Given the description of an element on the screen output the (x, y) to click on. 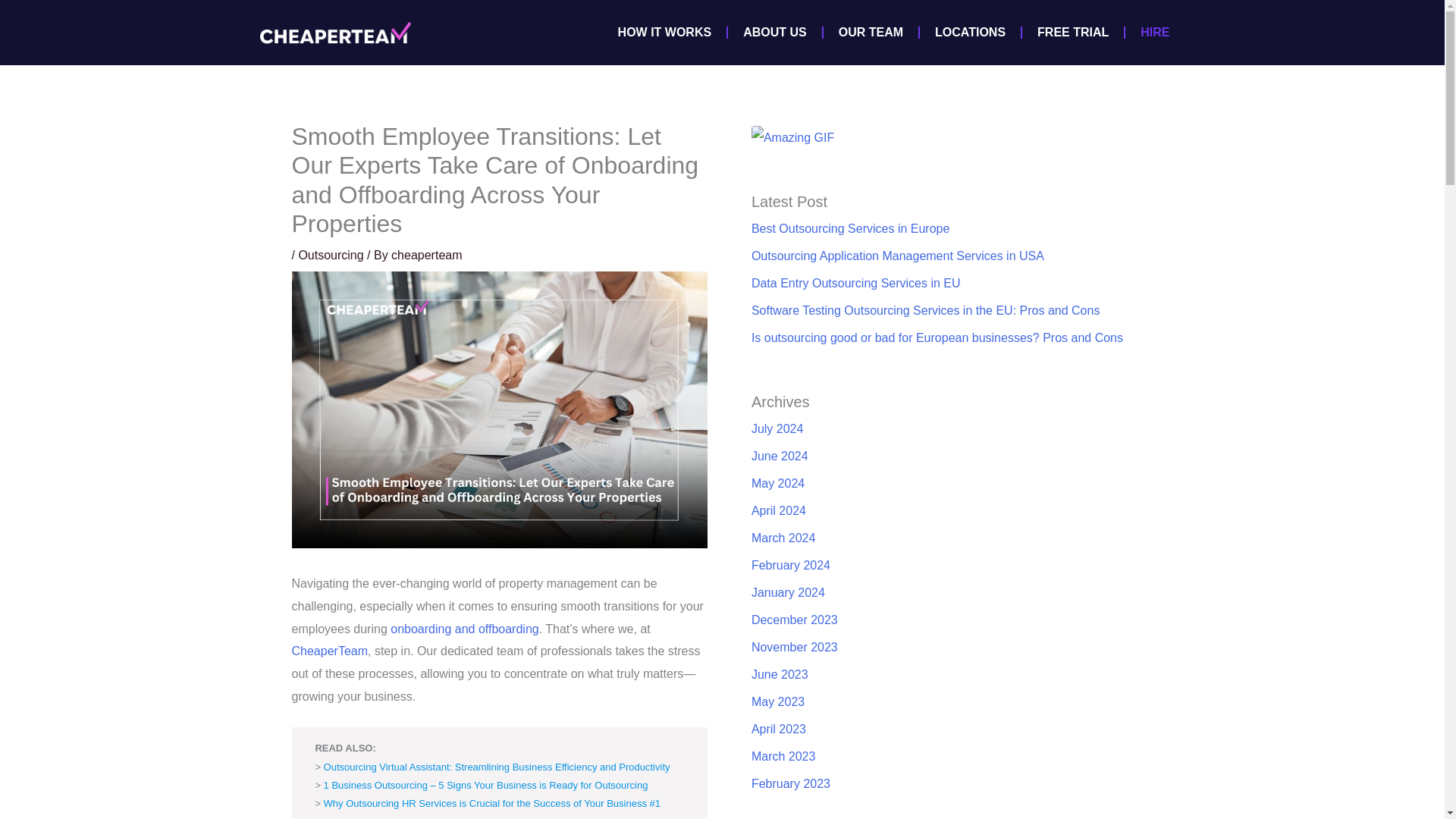
HIRE (1155, 32)
CheaperTeam (329, 650)
OUR TEAM (871, 32)
FREE TRIAL (1073, 32)
View all posts by cheaperteam (426, 254)
HOW IT WORKS (664, 32)
ABOUT US (775, 32)
Outsourcing (330, 254)
